Given the description of an element on the screen output the (x, y) to click on. 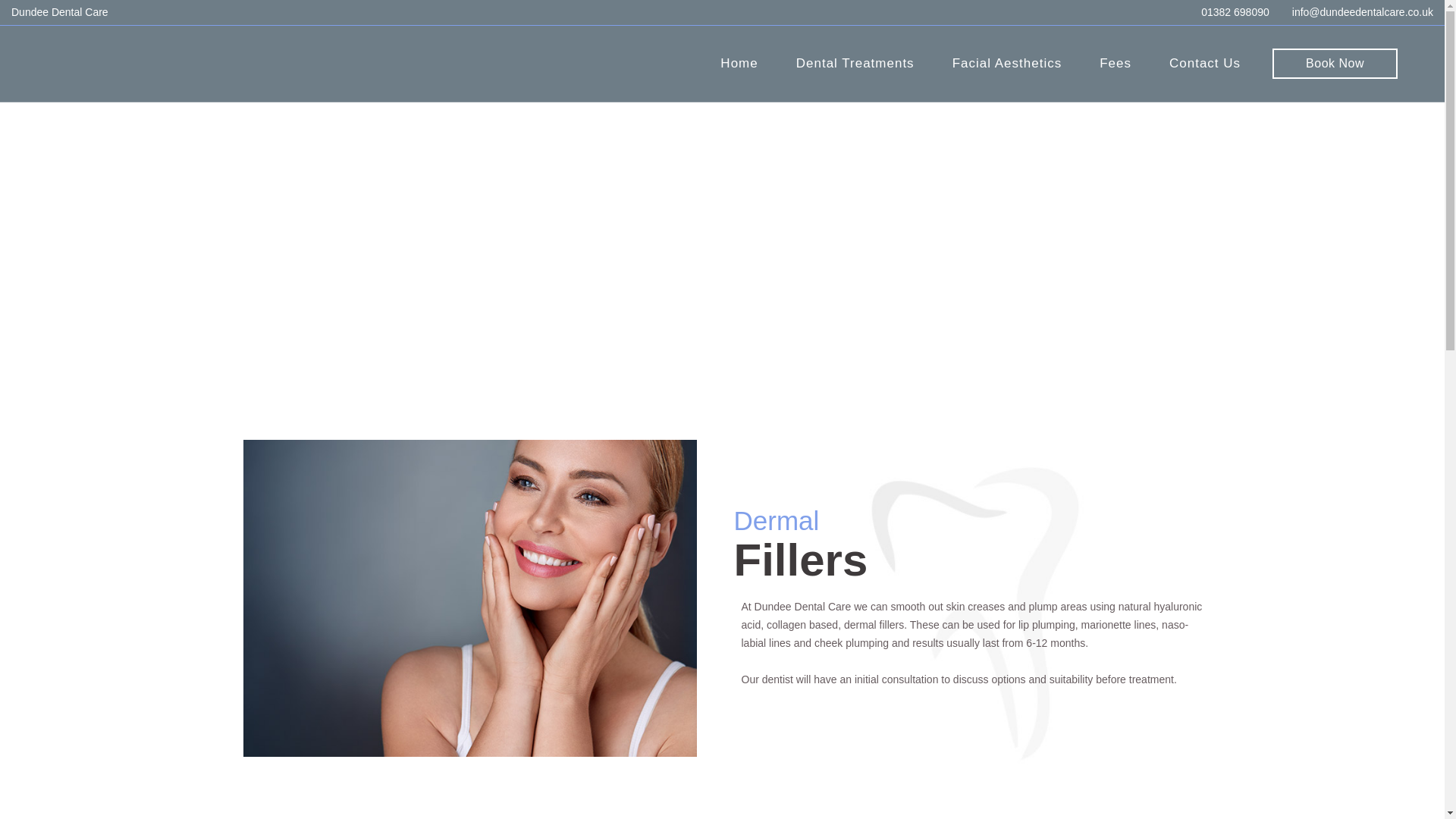
01382 698090 (1235, 11)
Contact Us (1204, 63)
Home (738, 63)
Fees (1115, 63)
Dental Treatments (855, 63)
Book Now (1334, 63)
Facial Aesthetics (1007, 63)
